Given the description of an element on the screen output the (x, y) to click on. 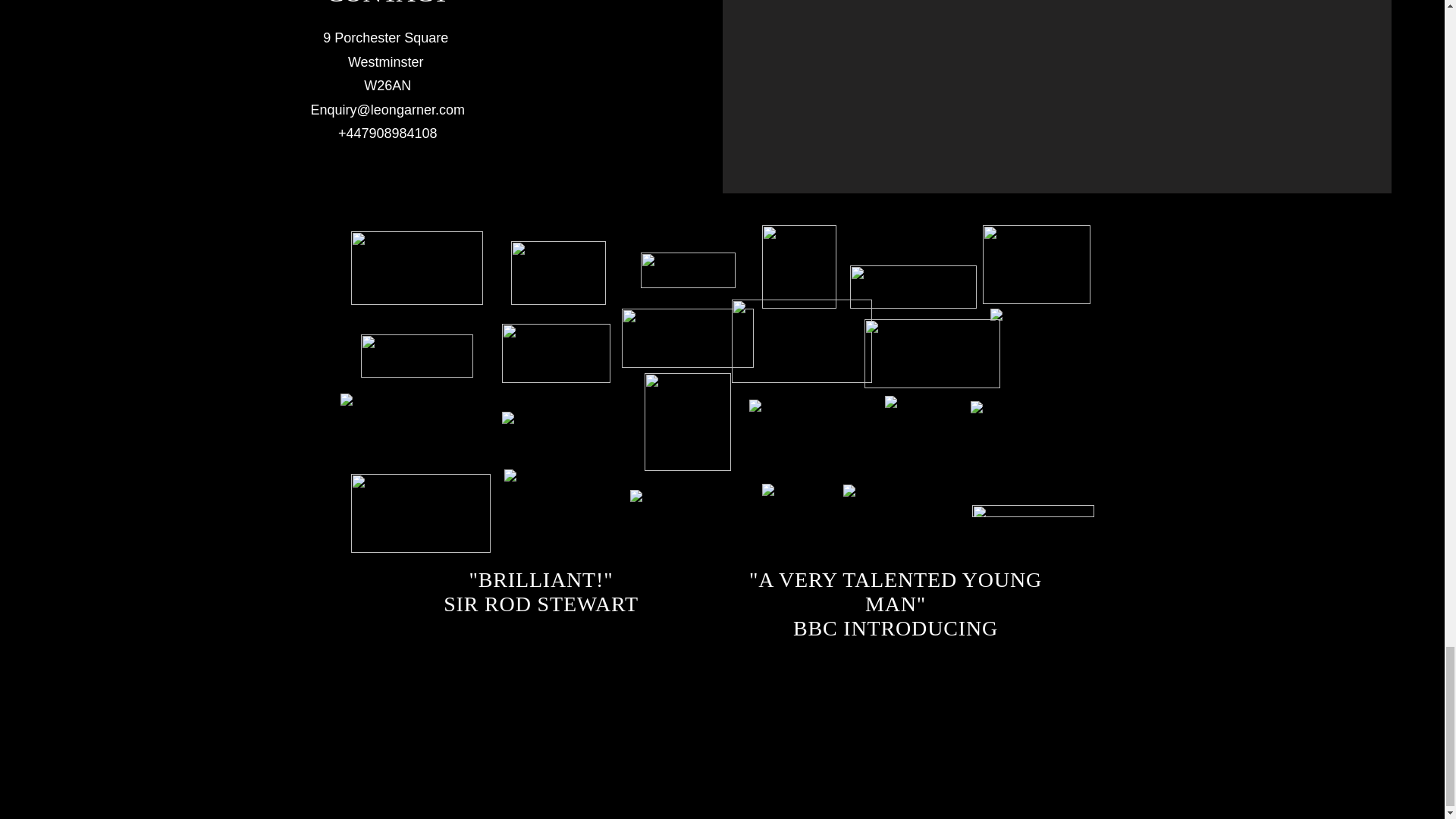
white badrutt.png (415, 267)
forbes white logo.png (687, 270)
soho white.png (558, 272)
